Given the description of an element on the screen output the (x, y) to click on. 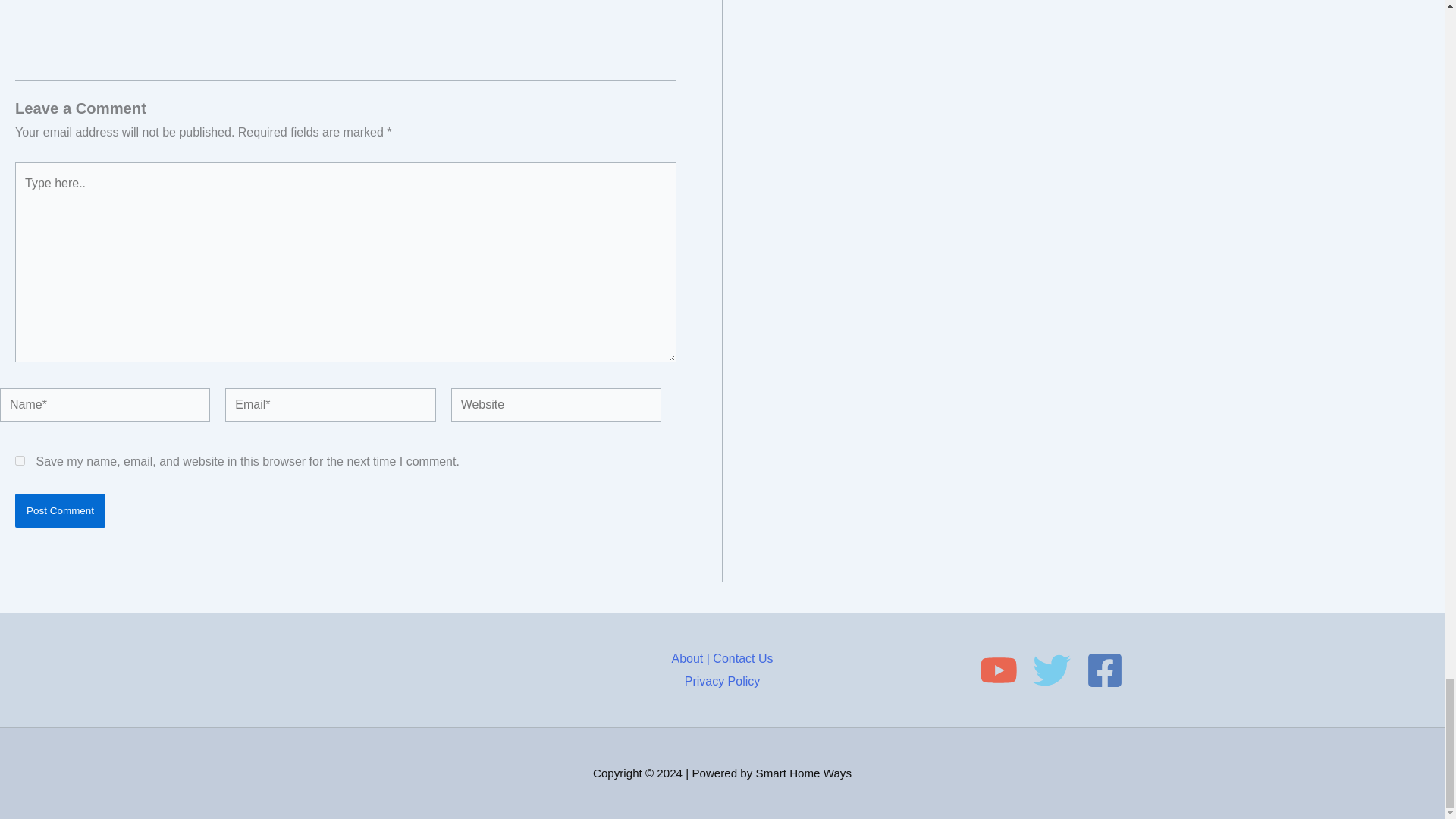
Post Comment (59, 510)
yes (19, 460)
Post Comment (59, 510)
